Given the description of an element on the screen output the (x, y) to click on. 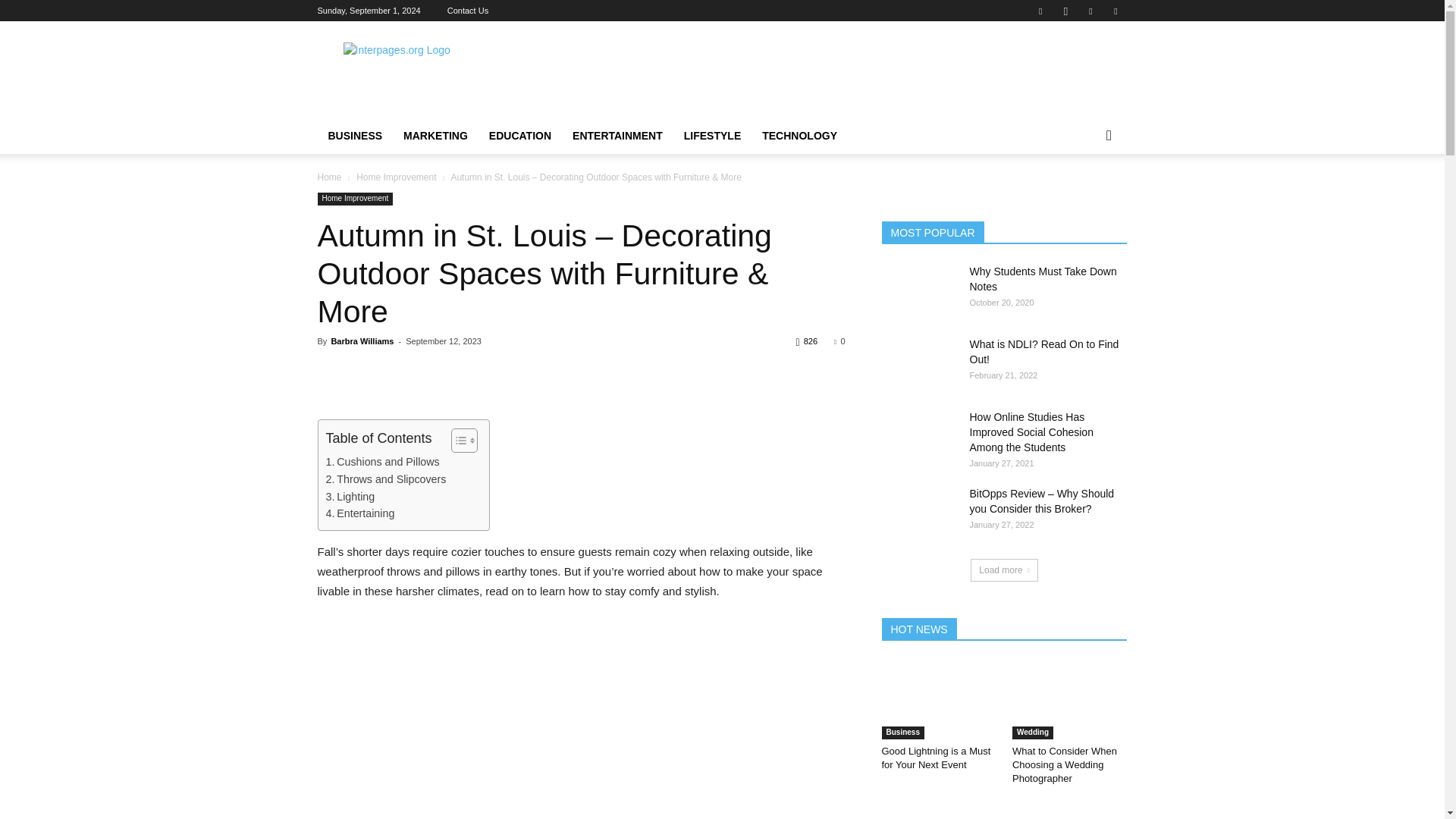
Throws and Slipcovers (386, 479)
Facebook (1040, 10)
Entertaining (360, 513)
Pinterest (1090, 10)
Instagram (1065, 10)
Lighting (350, 497)
Interpages.org Logo (445, 76)
Tumblr (1114, 10)
Cushions and Pillows (382, 461)
View all posts in Home Improvement (395, 176)
